Given the description of an element on the screen output the (x, y) to click on. 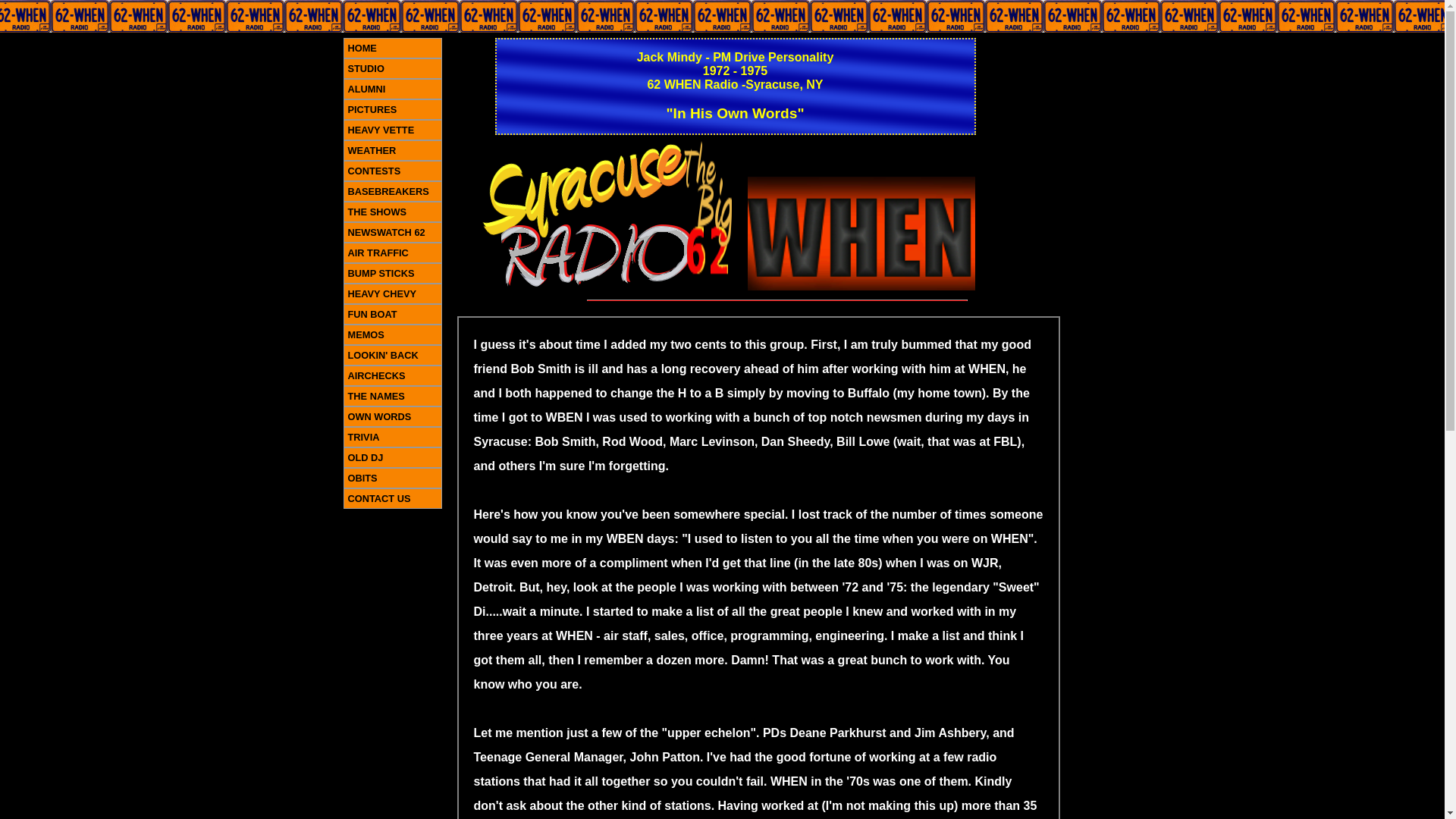
OWN WORDS (391, 416)
STUDIO (391, 68)
WEATHER (391, 150)
MEMOS (391, 334)
FUN BOAT (391, 313)
NEWSWATCH 62 (391, 231)
AIRCHECKS (391, 375)
THE SHOWS (391, 211)
CONTESTS (391, 170)
BASEBREAKERS (391, 190)
